Given the description of an element on the screen output the (x, y) to click on. 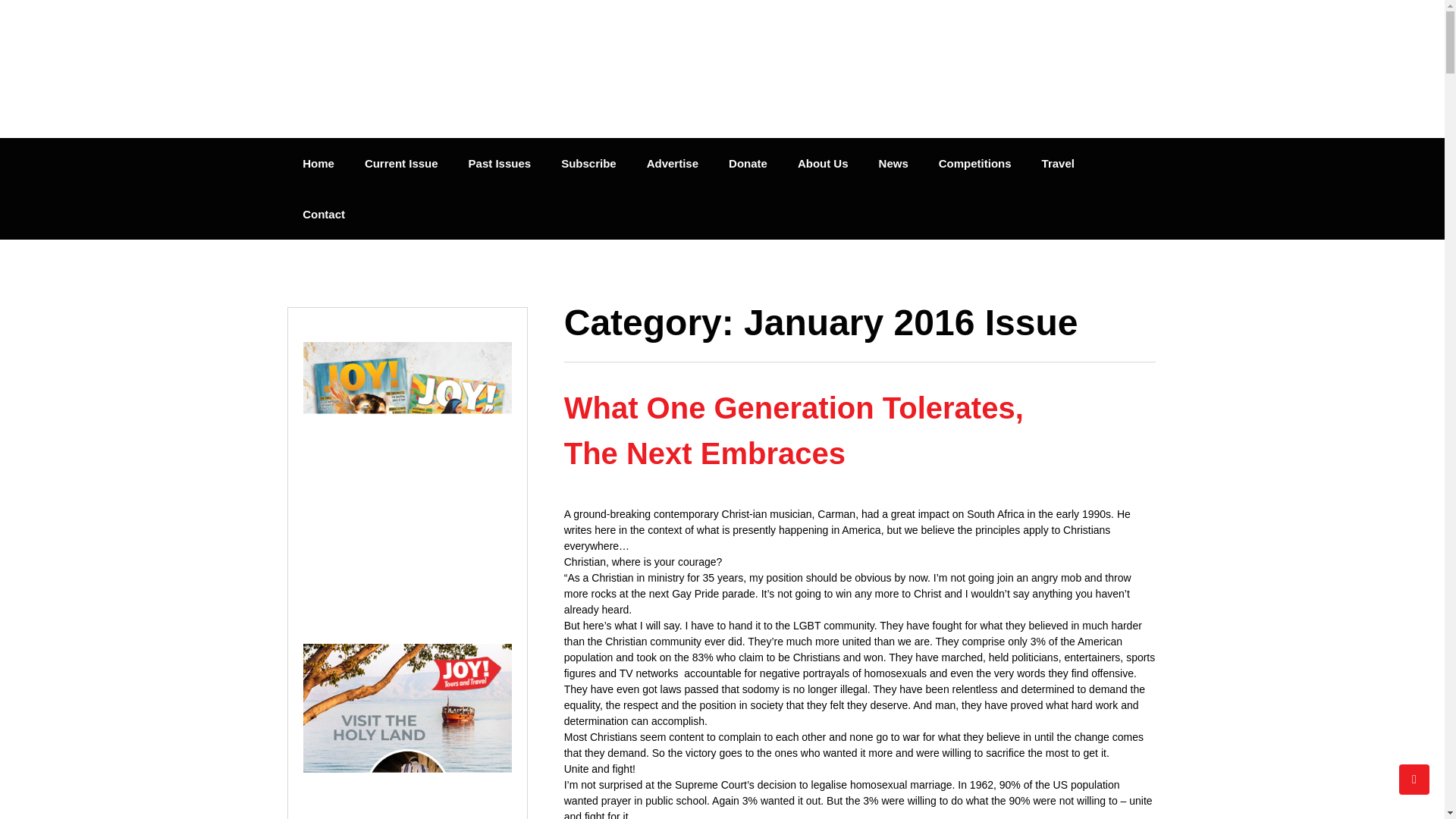
About Us (823, 163)
Travel (1057, 163)
Competitions (974, 163)
Current Issue (400, 163)
What One Generation Tolerates, The Next Embraces (793, 430)
News (893, 163)
Past Issues (499, 163)
Donate (748, 163)
Subscribe (588, 163)
Contact (322, 214)
